Given the description of an element on the screen output the (x, y) to click on. 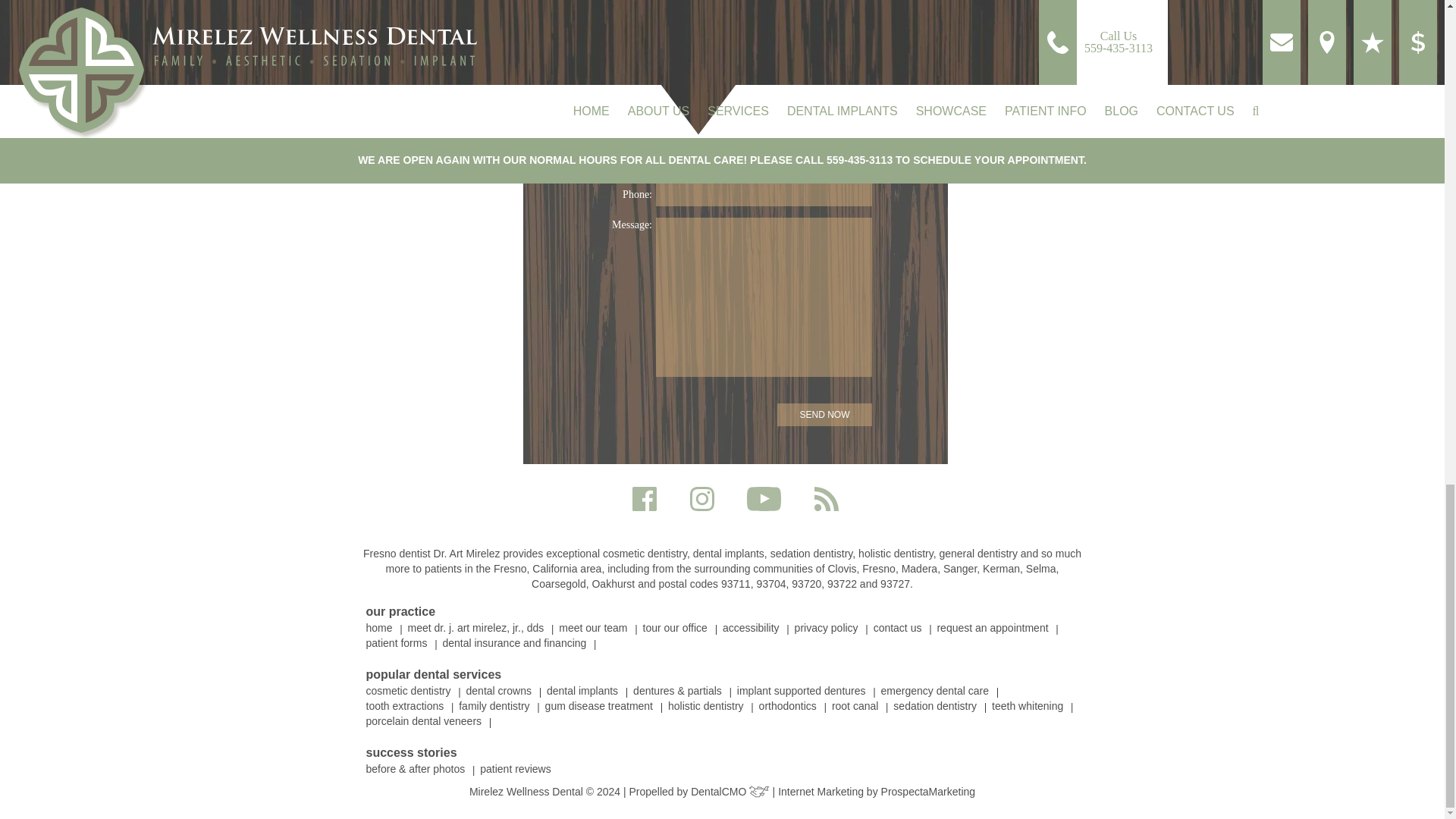
RSS-black Created with Sketch. (825, 498)
Send Now (824, 414)
Internet Dental Marketing (927, 791)
